Given the description of an element on the screen output the (x, y) to click on. 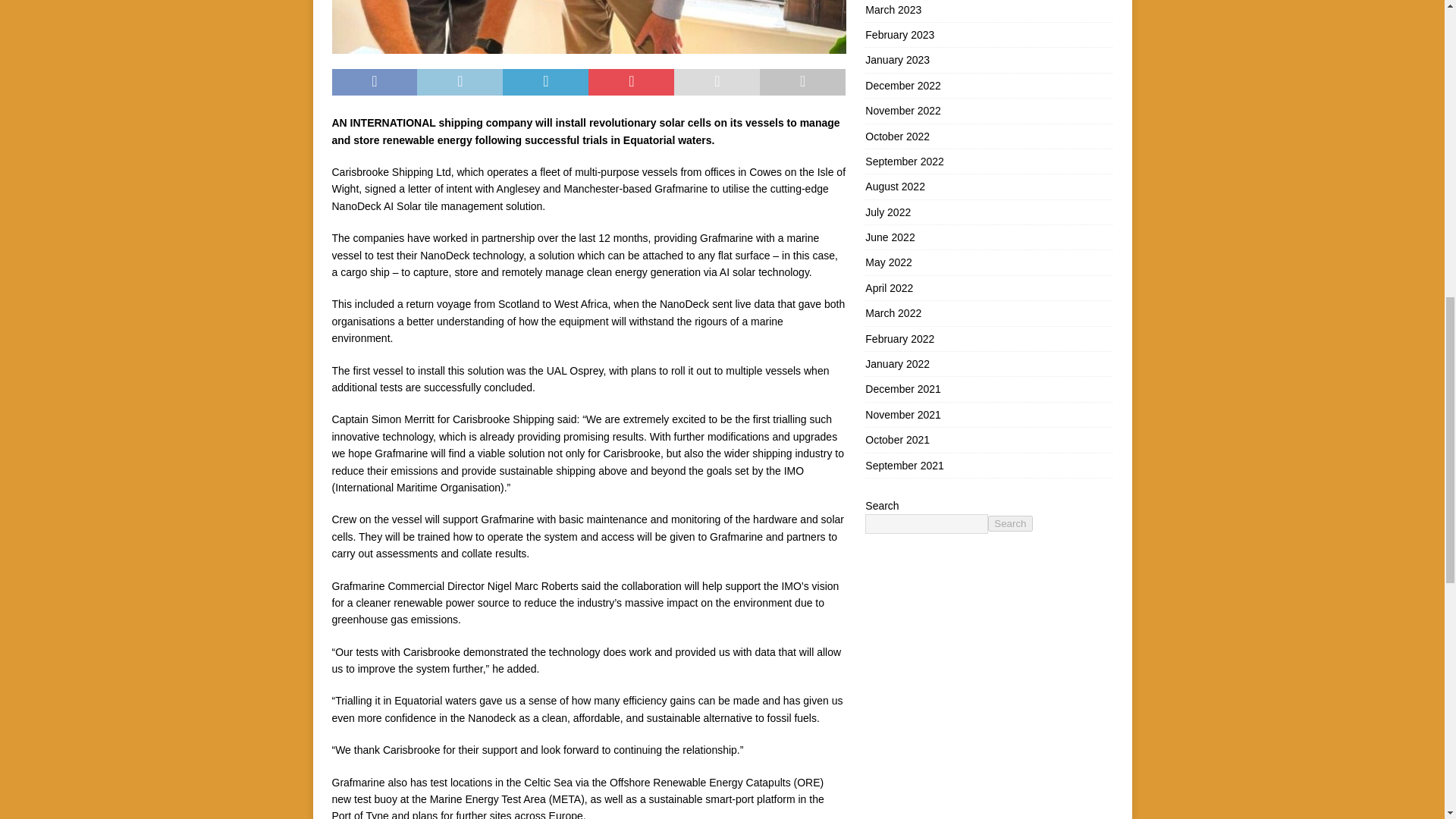
GrafmarineCarisbrooke1 (588, 27)
